Given the description of an element on the screen output the (x, y) to click on. 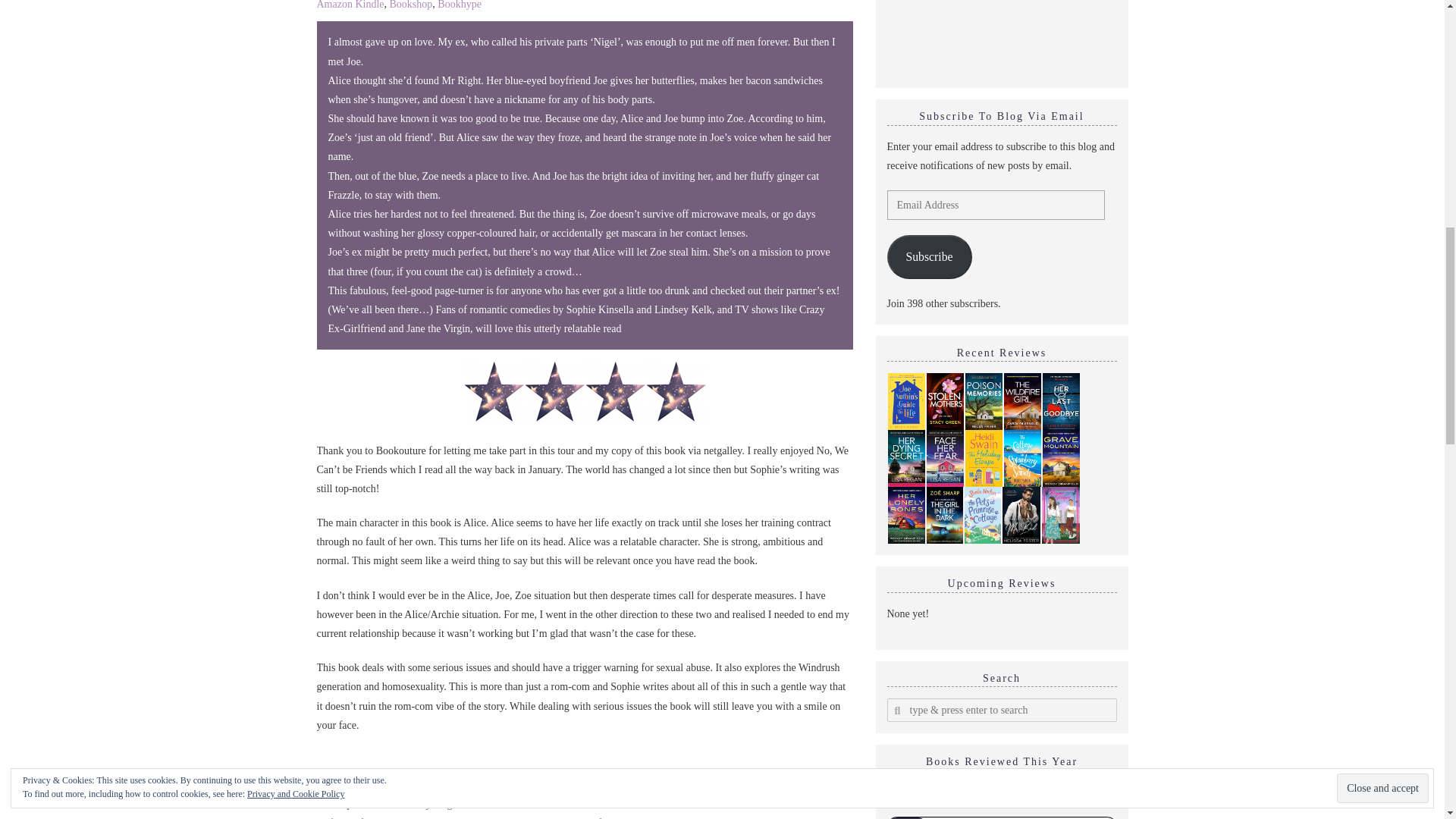
Amazon Kindle (350, 4)
Bookhype (459, 4)
Bookshop (411, 4)
